Given the description of an element on the screen output the (x, y) to click on. 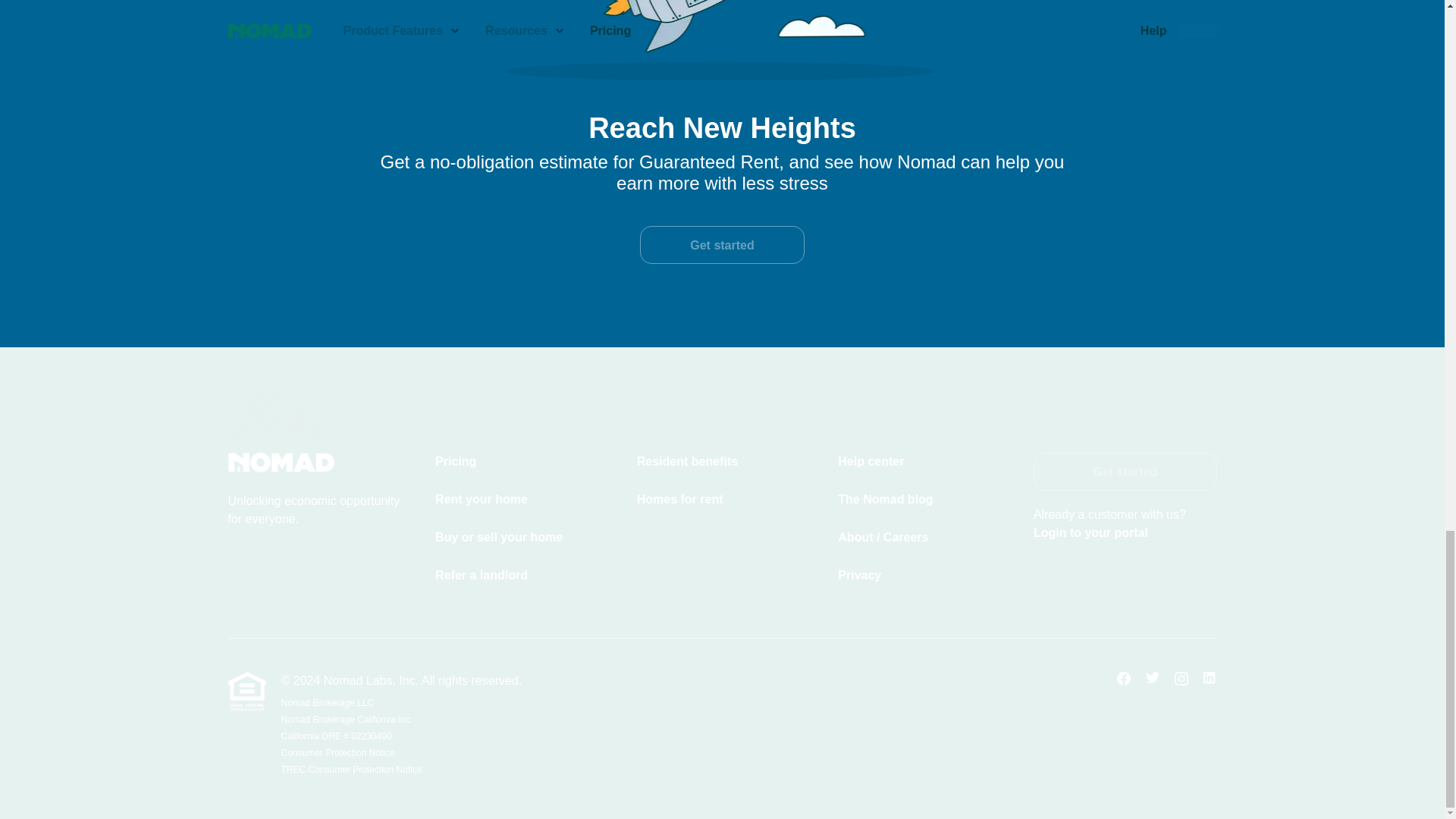
Get started (1125, 471)
Consumer Protection Notice (401, 753)
Rent your home (520, 499)
The Nomad blog (922, 499)
Pricing (520, 461)
TREC Consumer Protection Notice (401, 769)
Homes for rent (721, 499)
Login to your portal (1090, 532)
Refer a landlord (520, 575)
Help center (922, 461)
Resident benefits (721, 461)
Privacy (922, 575)
Buy or sell your home (520, 537)
Get started (722, 244)
